Given the description of an element on the screen output the (x, y) to click on. 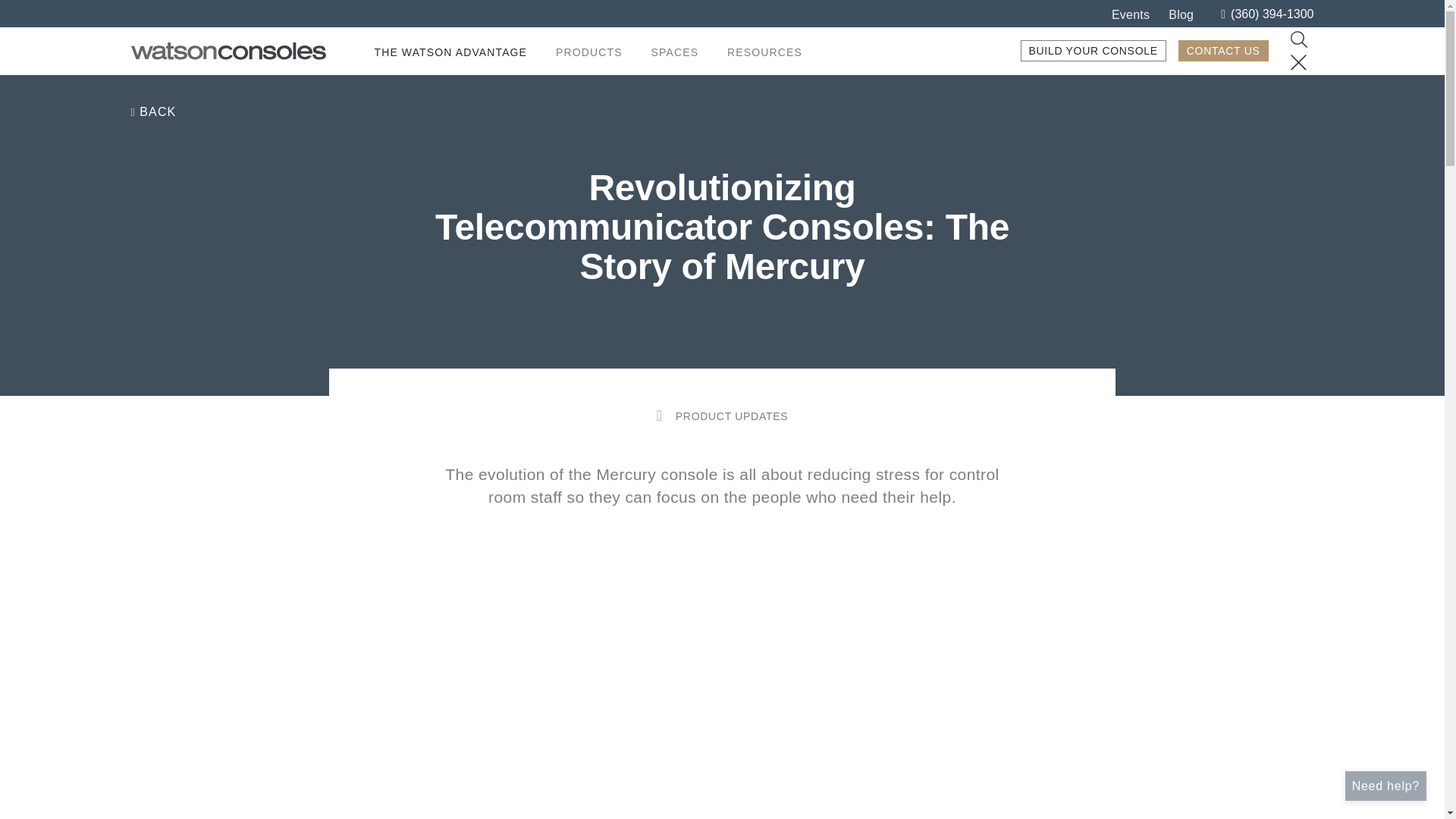
THE WATSON ADVANTAGE (450, 52)
RESOURCES (764, 52)
SPACES (675, 52)
Blog (1181, 14)
Events (1131, 14)
PRODUCTS (589, 52)
